Given the description of an element on the screen output the (x, y) to click on. 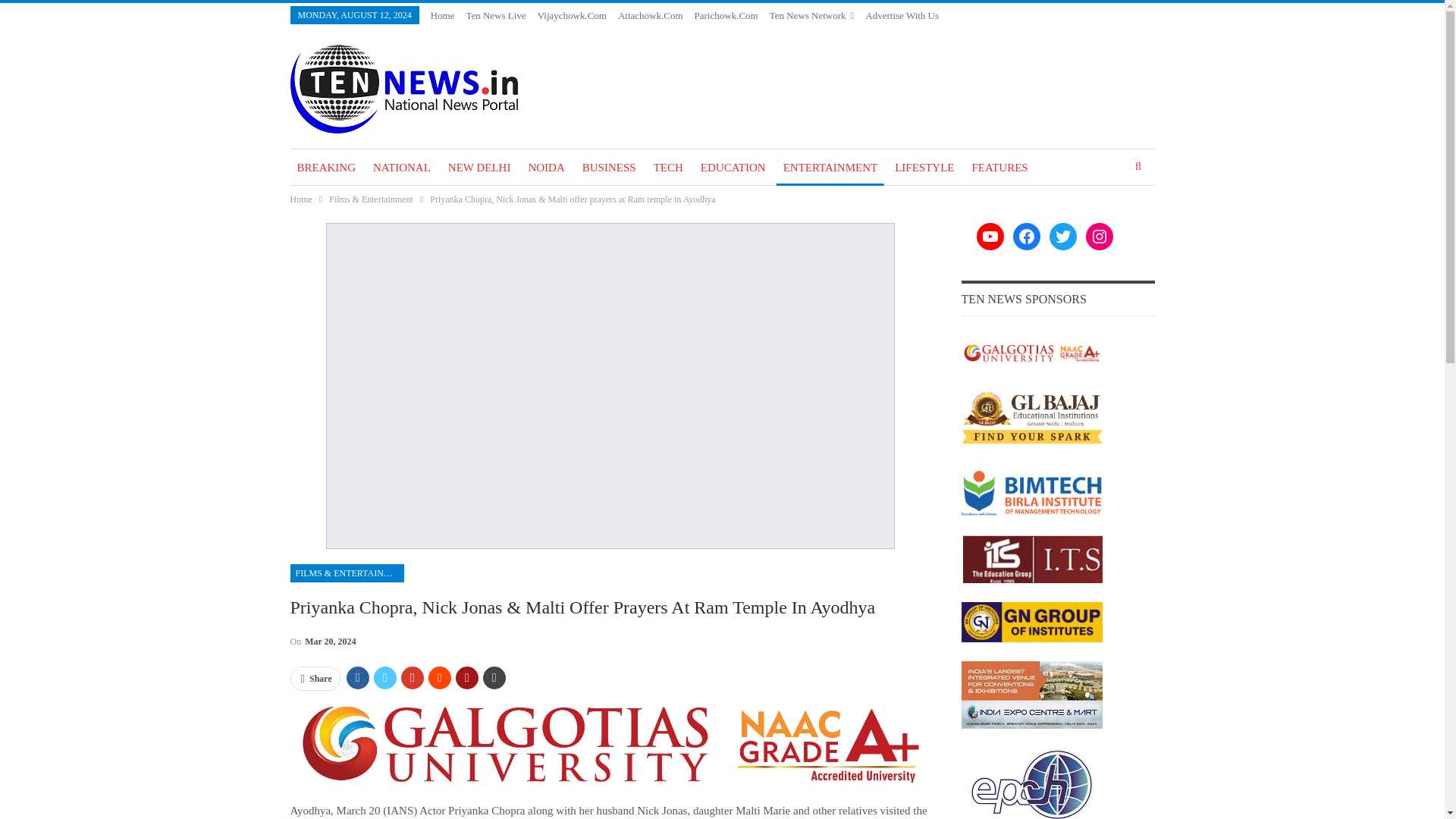
NATIONAL (402, 167)
Vijaychowk.Com (572, 15)
Ten News Network (812, 15)
ENTERTAINMENT (830, 167)
Parichowk.Com (726, 15)
LIFESTYLE (924, 167)
TECH (668, 167)
BUSINESS (609, 167)
Advertise With Us (901, 15)
Home (300, 199)
